Given the description of an element on the screen output the (x, y) to click on. 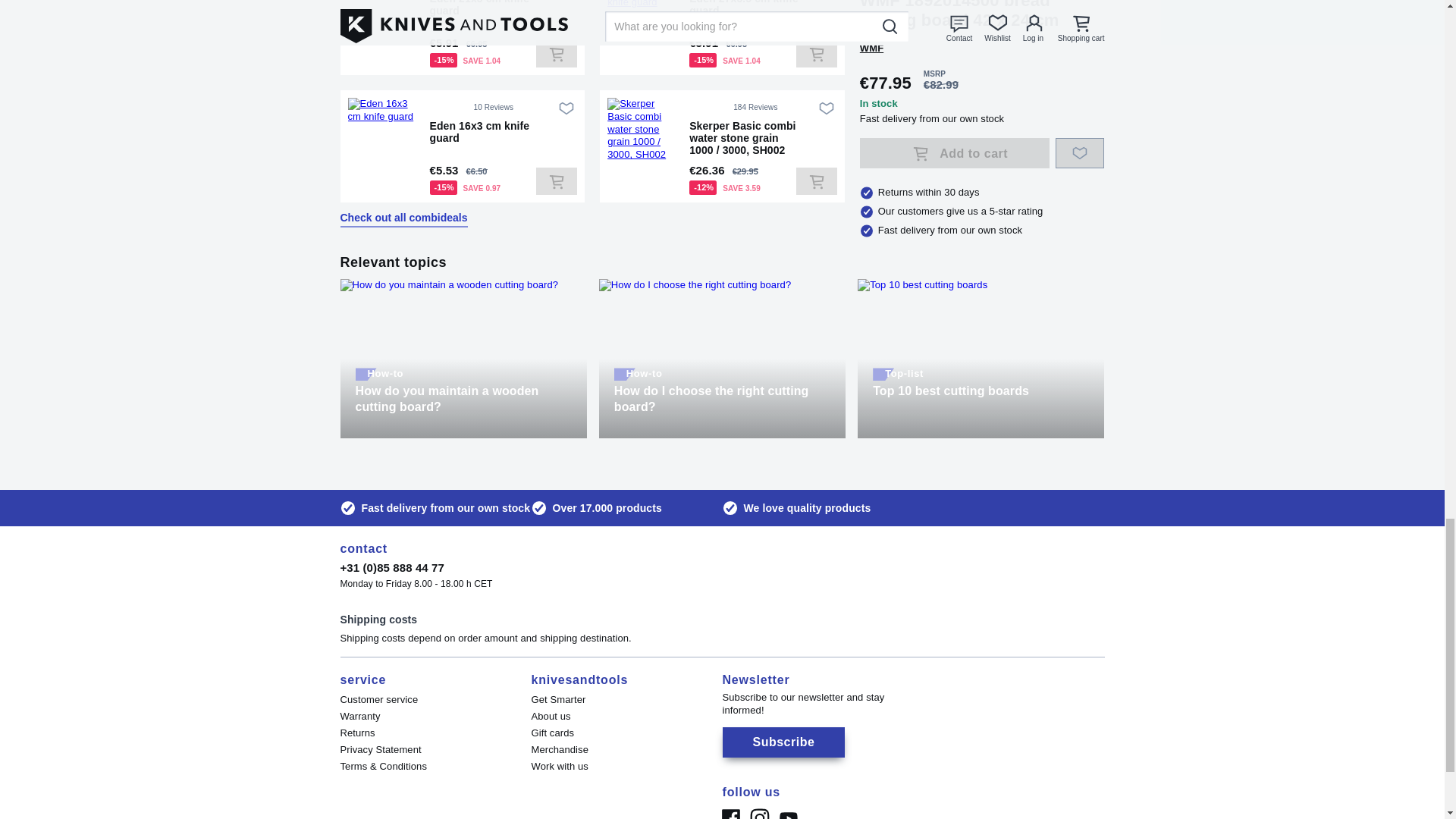
Facebook (730, 811)
Instagram (758, 811)
Youtube (787, 811)
